Given the description of an element on the screen output the (x, y) to click on. 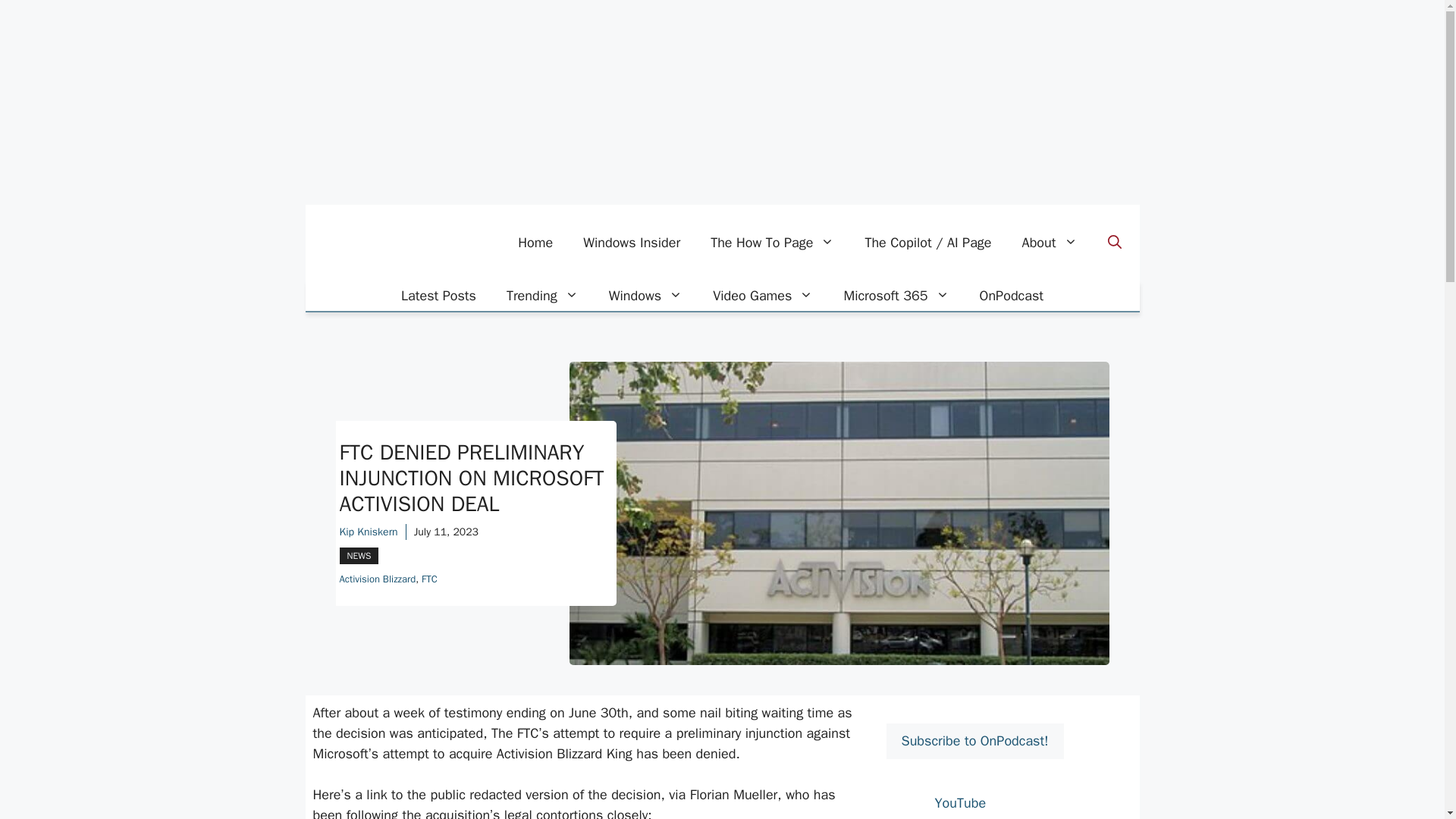
Windows (645, 295)
Windows Insider (631, 242)
Trending (543, 295)
About (1050, 242)
The How To Page (771, 242)
Latest Posts (438, 295)
Video Games (762, 295)
Home (534, 242)
